Given the description of an element on the screen output the (x, y) to click on. 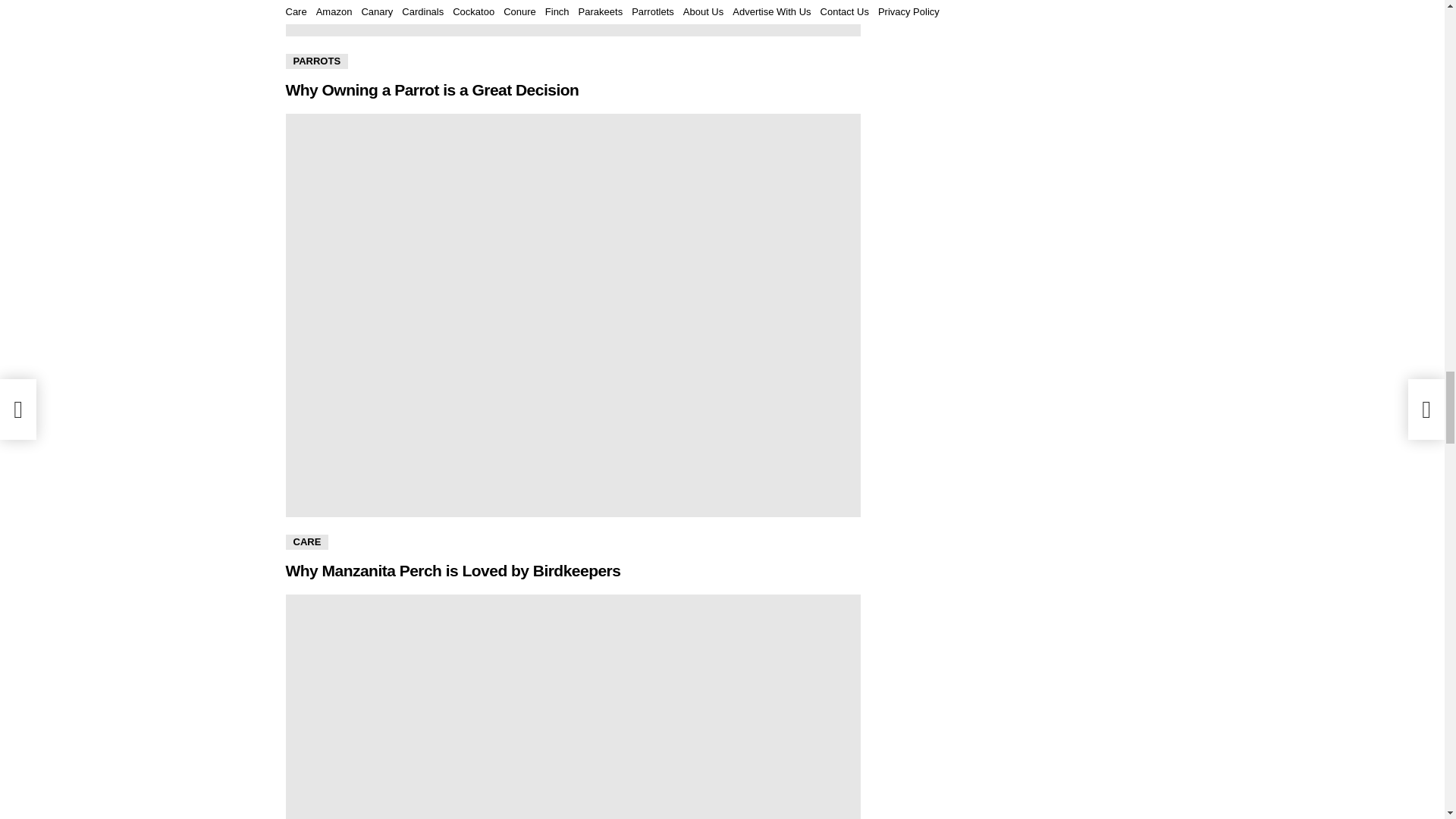
CARE (307, 541)
Why Owning a Parrot is a Great Decision (431, 89)
Why Manzanita Perch is Loved by Birdkeepers (452, 570)
Why Owning a Parrot is a Great Decision (572, 18)
PARROTS (316, 61)
